Given the description of an element on the screen output the (x, y) to click on. 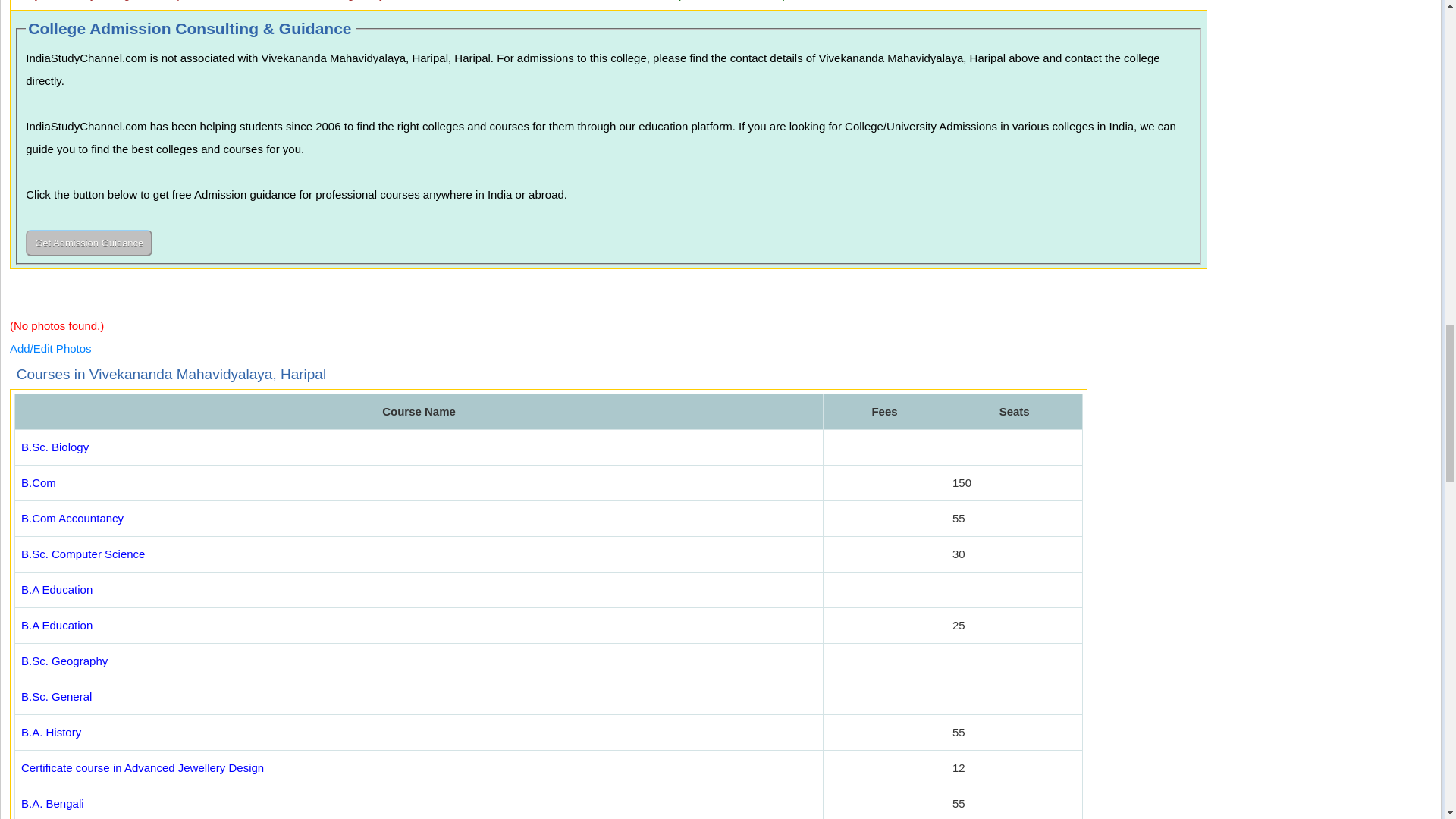
B.Com Accountancy (72, 517)
B.Sc. Biology (54, 446)
Get Admission Guidance (89, 243)
B.Com (38, 481)
Get Admission Guidance (89, 243)
